Given the description of an element on the screen output the (x, y) to click on. 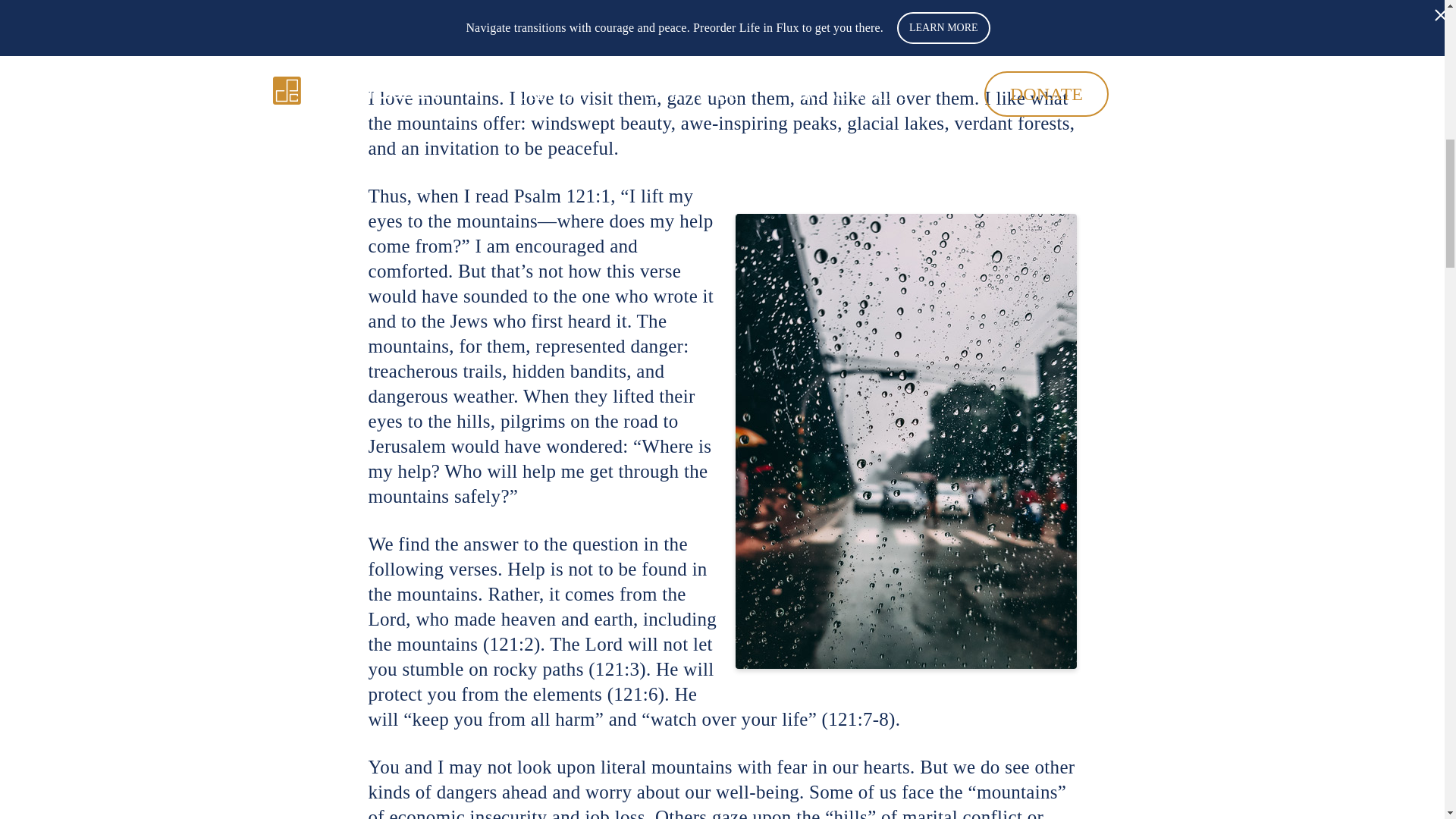
Psalms 121:1-2 (1014, 5)
